Given the description of an element on the screen output the (x, y) to click on. 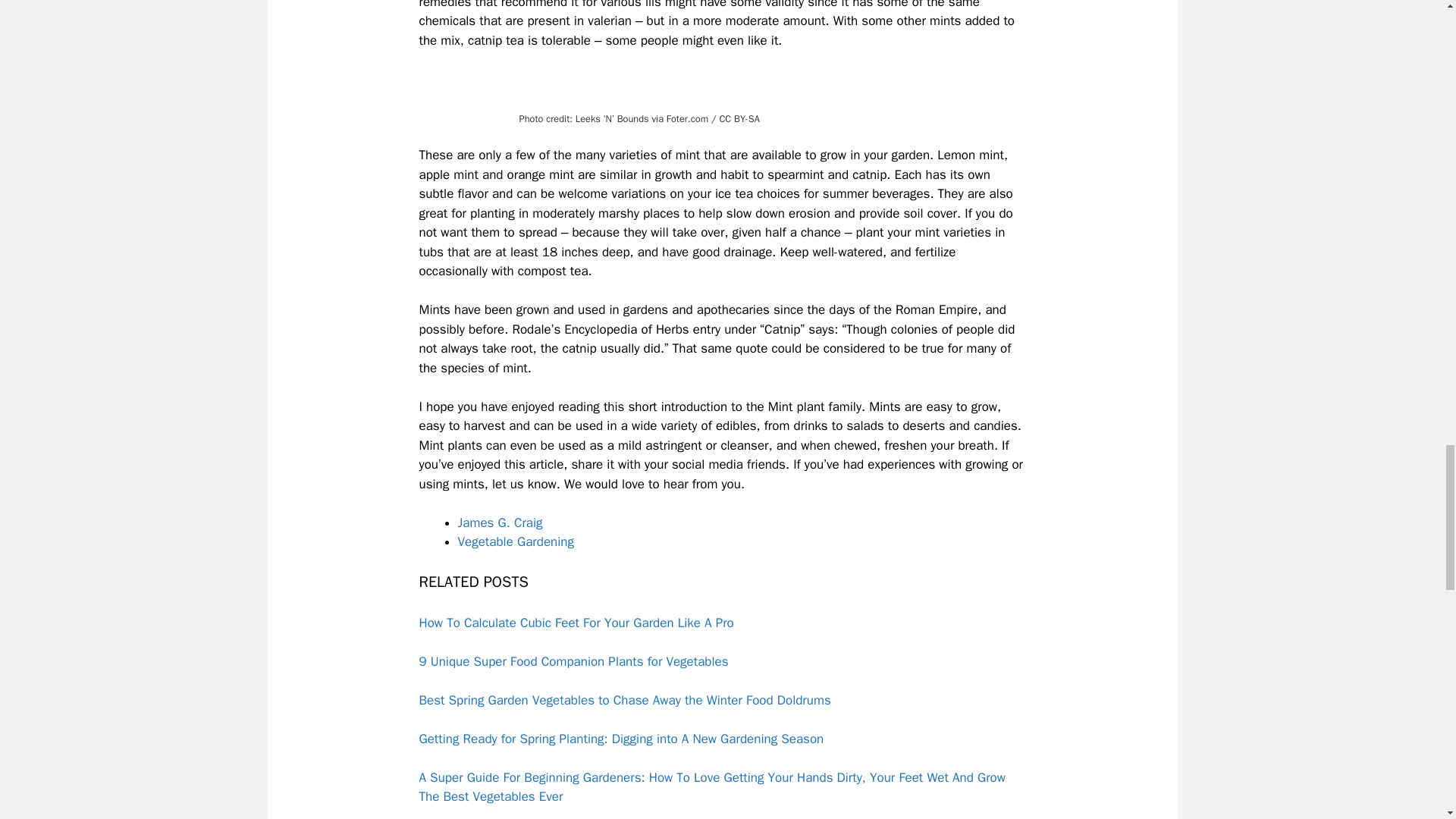
How To Calculate Cubic Feet For Your Garden Like A Pro (722, 623)
James G. Craig (500, 522)
Vegetable Gardening (515, 541)
9 Unique Super Food Companion Plants for Vegetables (722, 661)
